Given the description of an element on the screen output the (x, y) to click on. 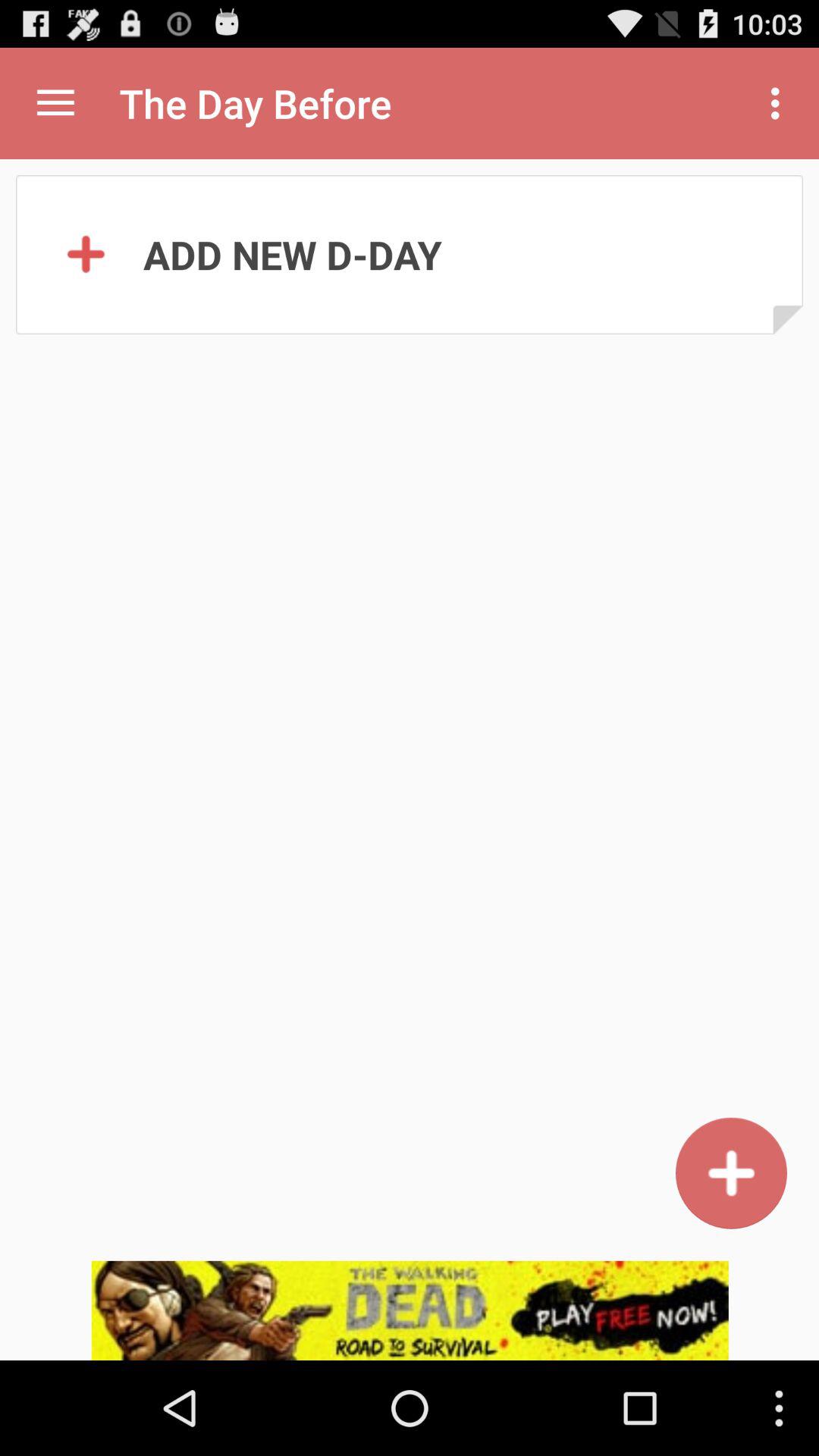
click on advertisement (409, 1310)
